Given the description of an element on the screen output the (x, y) to click on. 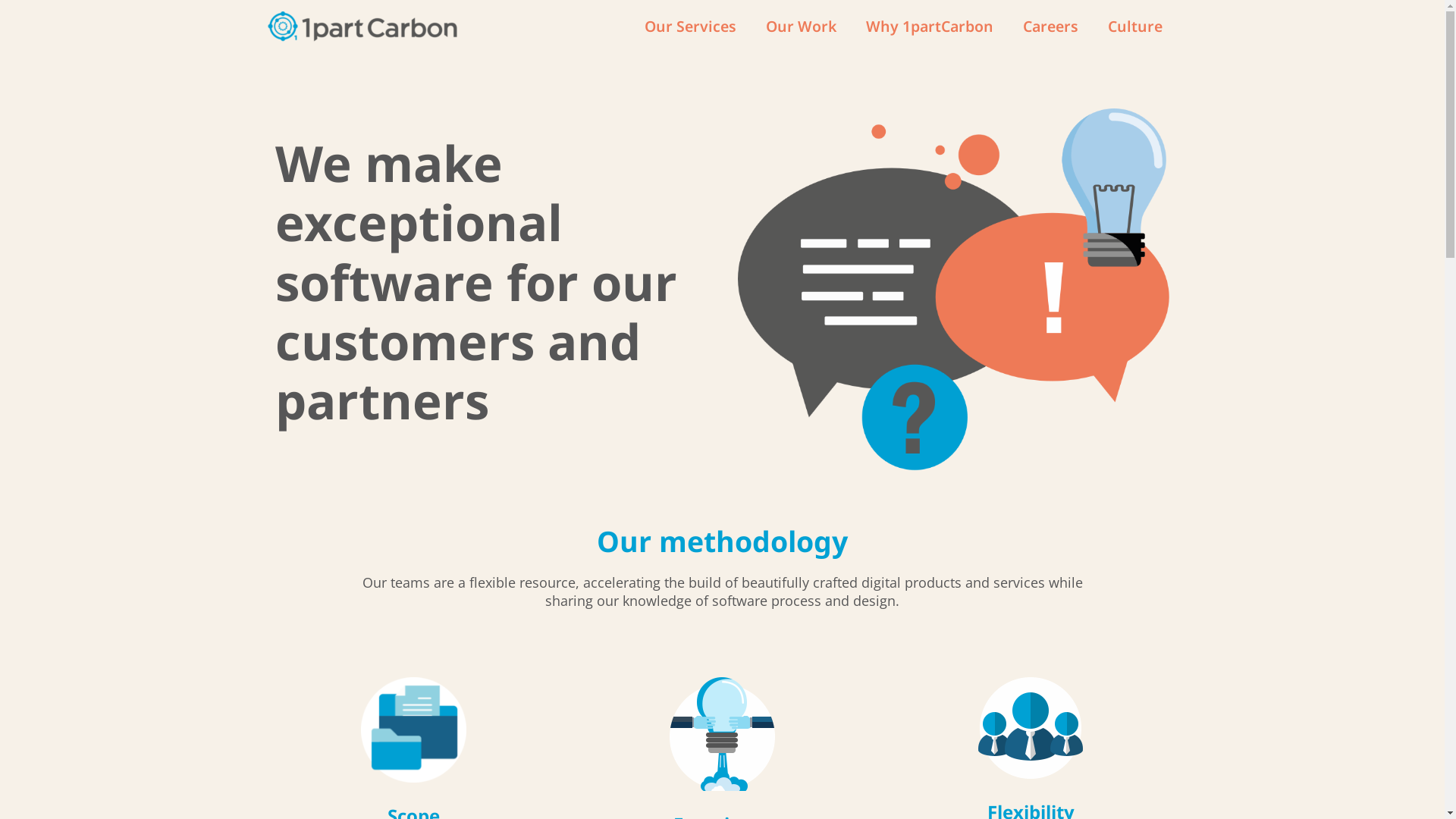
Careers Element type: text (1050, 26)
Why 1partCarbon Element type: text (928, 26)
Culture Element type: text (1135, 26)
Our Services Element type: text (689, 26)
Our Work Element type: text (800, 26)
